Given the description of an element on the screen output the (x, y) to click on. 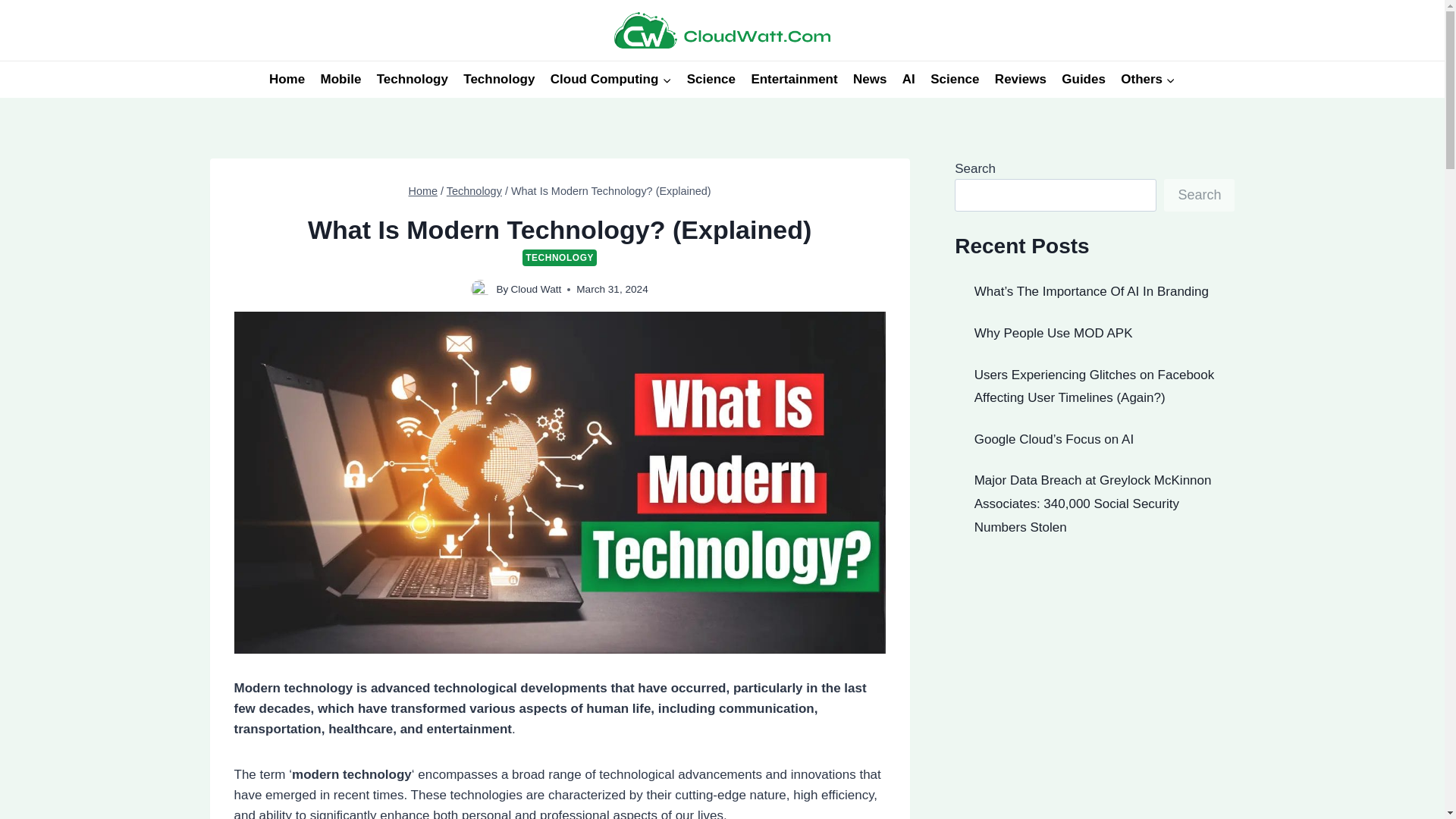
Others (1147, 79)
Reviews (1020, 79)
Entertainment (793, 79)
Home (287, 79)
Technology (413, 79)
TECHNOLOGY (559, 257)
Cloud Watt (536, 288)
Guides (1083, 79)
Technology (499, 79)
Technology (474, 191)
